Given the description of an element on the screen output the (x, y) to click on. 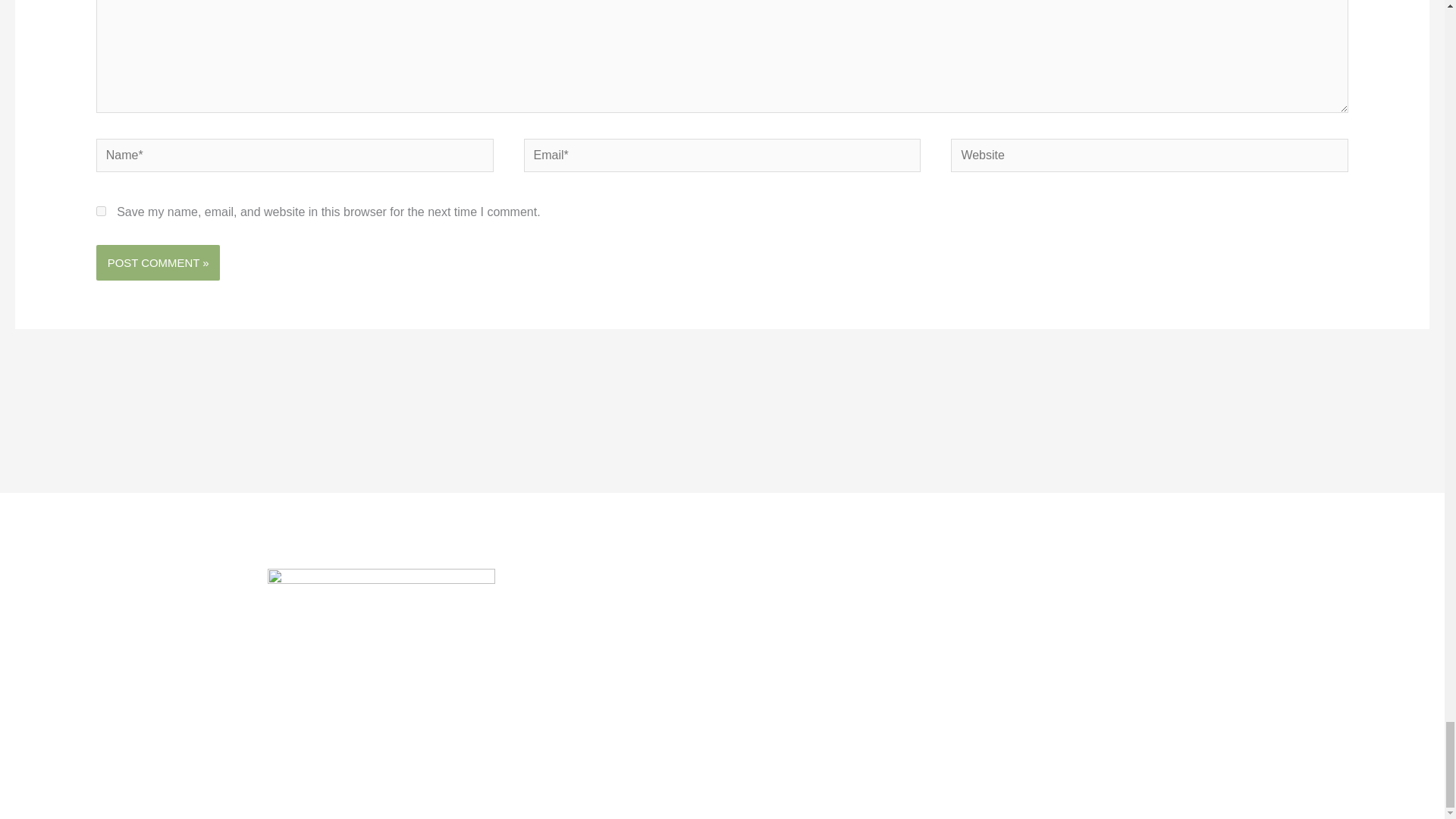
yes (101, 211)
